Given the description of an element on the screen output the (x, y) to click on. 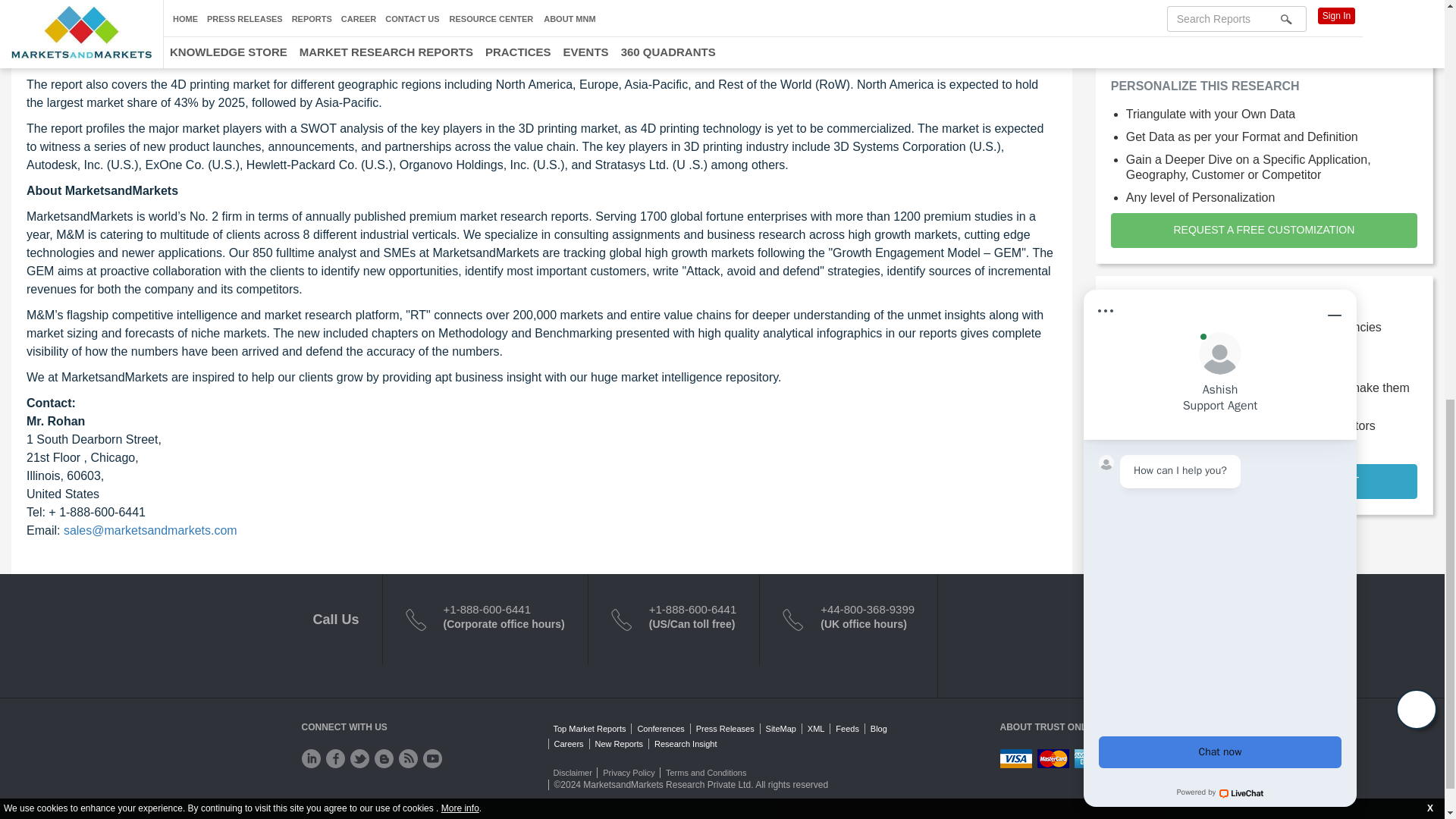
CUSTOMIZED WORKSHOP REQUEST (1263, 481)
REQUEST A FREE CUSTOMIZATION (1263, 230)
